Given the description of an element on the screen output the (x, y) to click on. 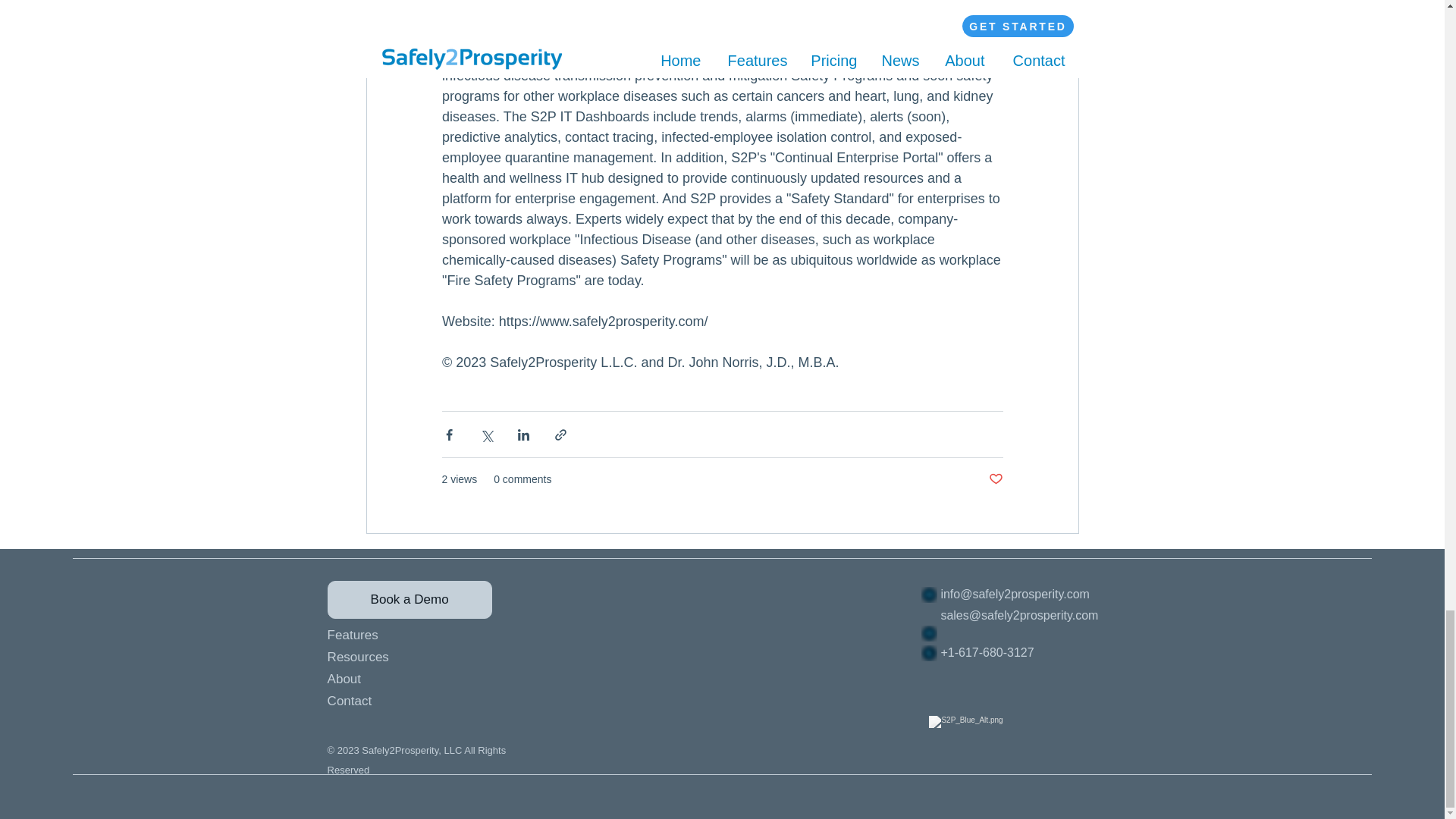
Post not marked as liked (995, 479)
Features (396, 634)
Contact (396, 701)
Resources (396, 656)
About (396, 678)
Book a Demo (409, 599)
